Given the description of an element on the screen output the (x, y) to click on. 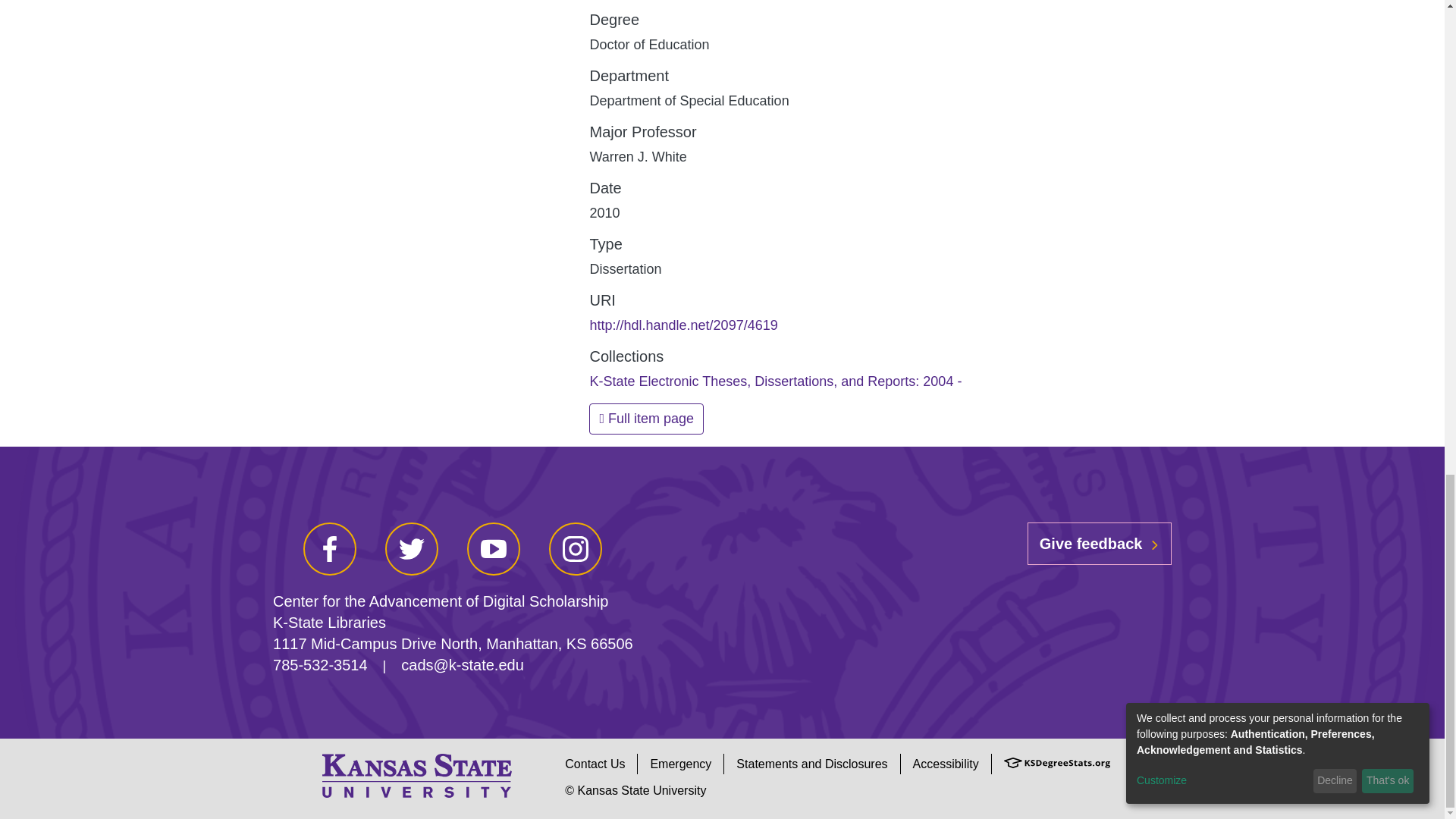
785-532-3514 (320, 664)
chevron (1154, 544)
Full item page (646, 418)
